Given the description of an element on the screen output the (x, y) to click on. 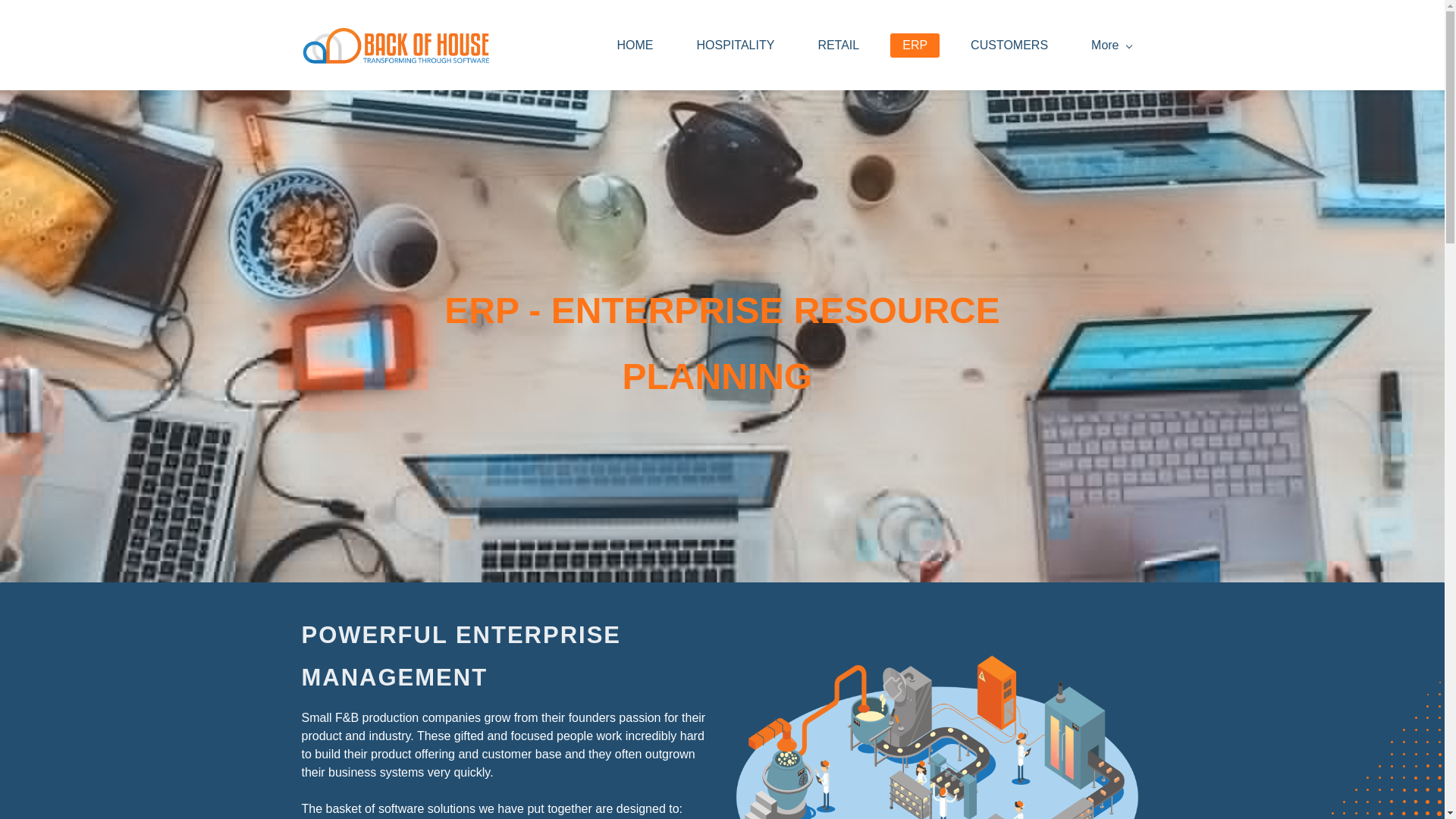
HOME (635, 45)
HOME (635, 45)
More (1110, 45)
Logo (396, 45)
ERP (914, 45)
HOSPITALITY (735, 45)
CUSTOMERS (1008, 45)
RETAIL (837, 45)
HOSPITALITY (735, 45)
CUSTOMERS (1008, 45)
